Given the description of an element on the screen output the (x, y) to click on. 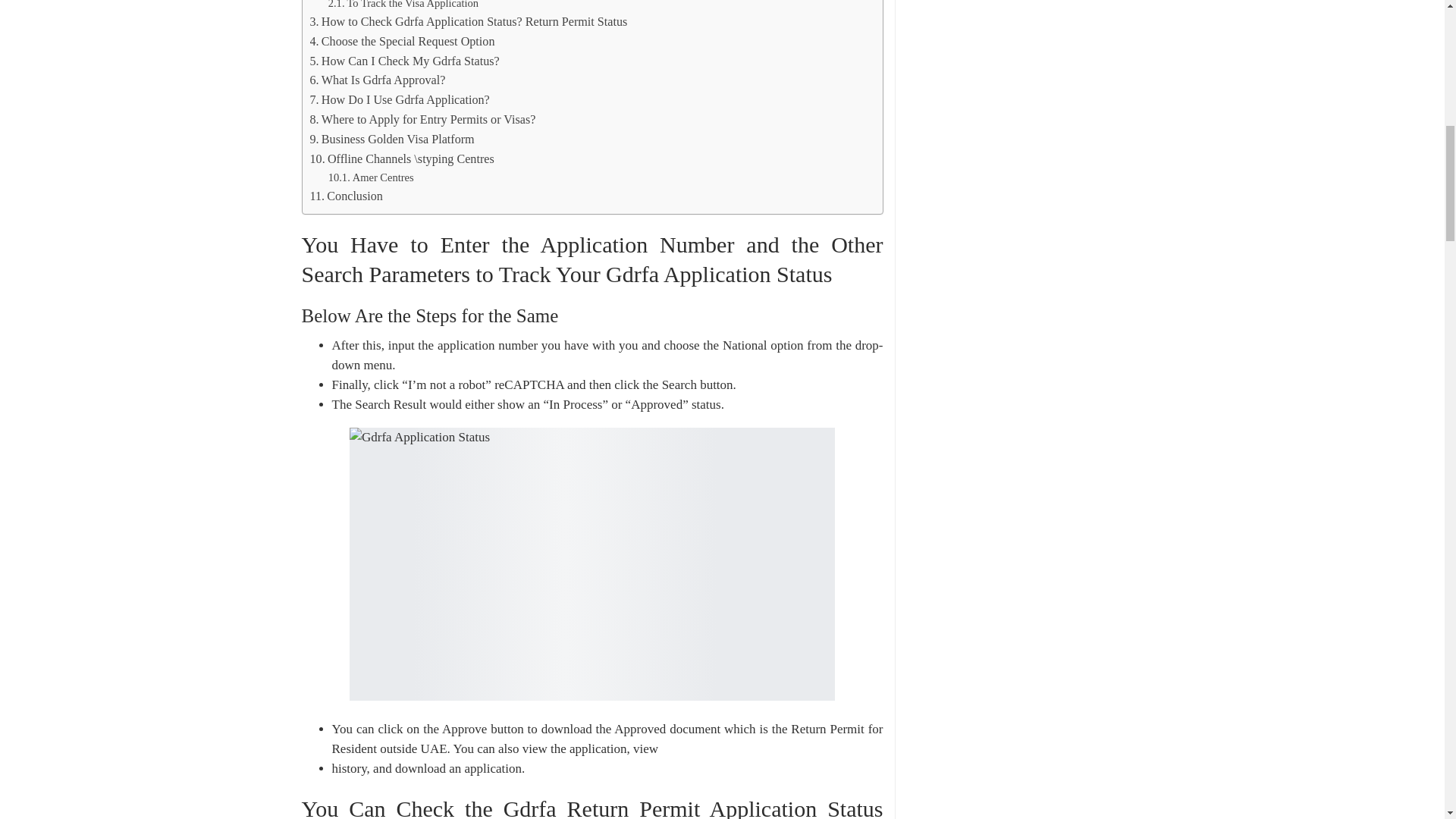
How to Check Gdrfa Application Status? Return Permit Status (467, 21)
Choose the Special Request Option (401, 41)
How Do I Use Gdrfa Application? (398, 99)
How to Check Gdrfa Application Status? Return Permit Status (467, 21)
What Is Gdrfa Approval? (376, 80)
What Is Gdrfa Approval? (376, 80)
How Can I Check My Gdrfa Status? (403, 61)
Where to Apply for Entry Permits or Visas? (421, 119)
Business Golden Visa Platform (391, 139)
Choose the Special Request Option (401, 41)
